Given the description of an element on the screen output the (x, y) to click on. 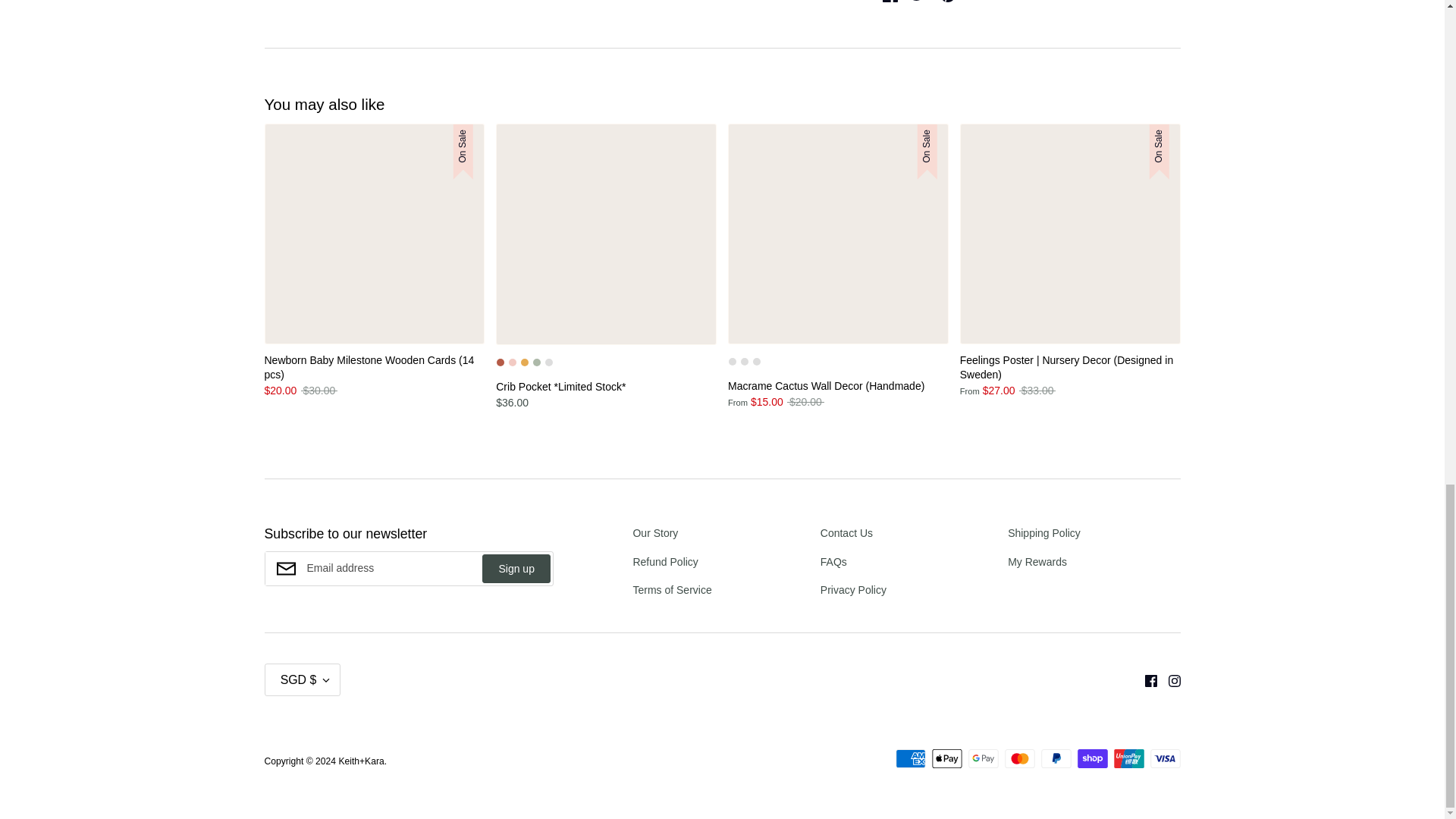
Google Pay (983, 758)
American Express (910, 758)
Union Pay (1128, 758)
Apple Pay (946, 758)
Shop Pay (1092, 758)
PayPal (1056, 758)
Mastercard (1019, 758)
